Given the description of an element on the screen output the (x, y) to click on. 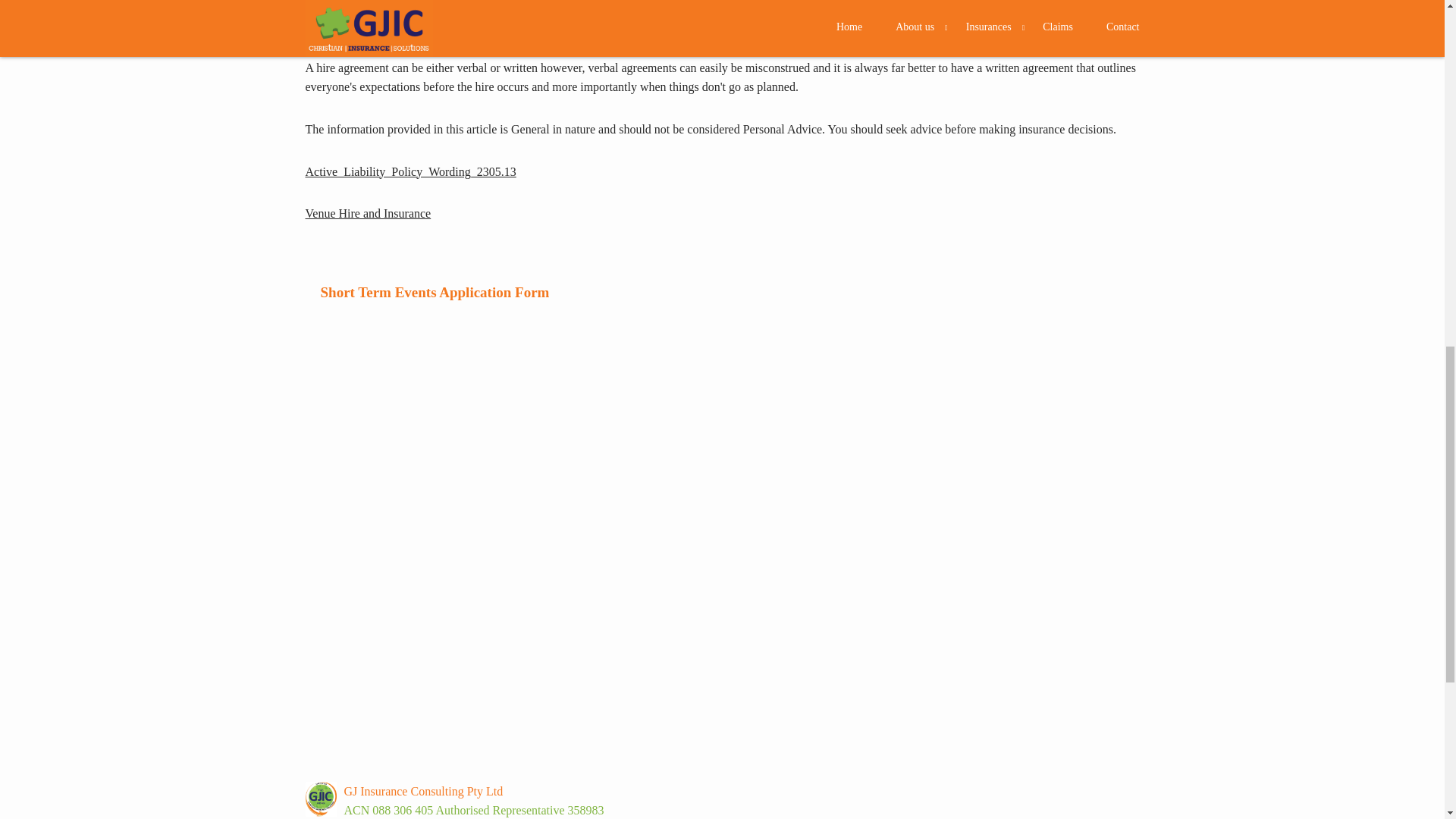
Venue Hire and Insurance (367, 213)
